Given the description of an element on the screen output the (x, y) to click on. 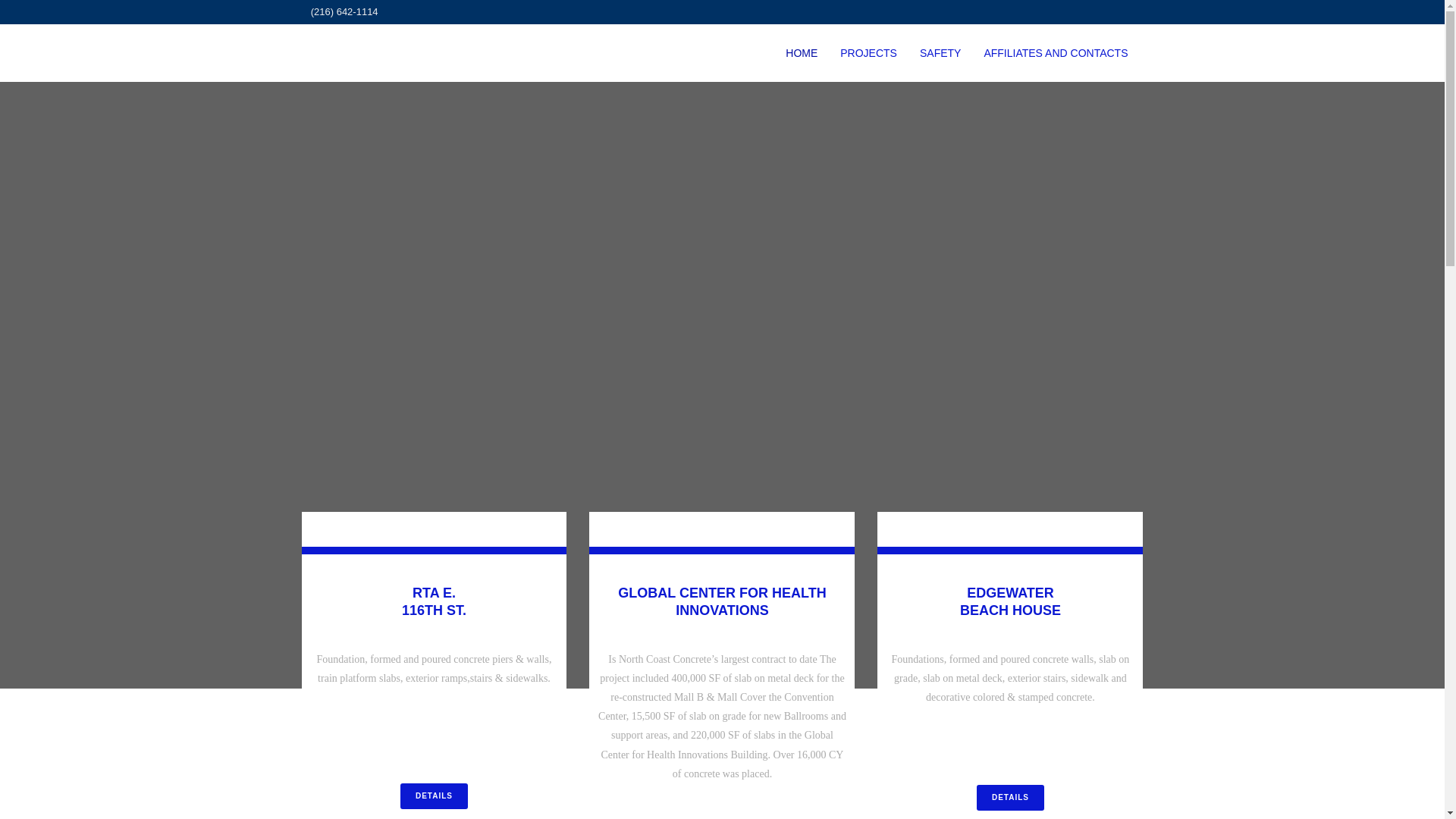
SAFETY (940, 52)
HOME (801, 52)
DETAILS (1009, 797)
PROJECTS (868, 52)
DETAILS (433, 795)
AFFILIATES AND CONTACTS (1055, 52)
